Given the description of an element on the screen output the (x, y) to click on. 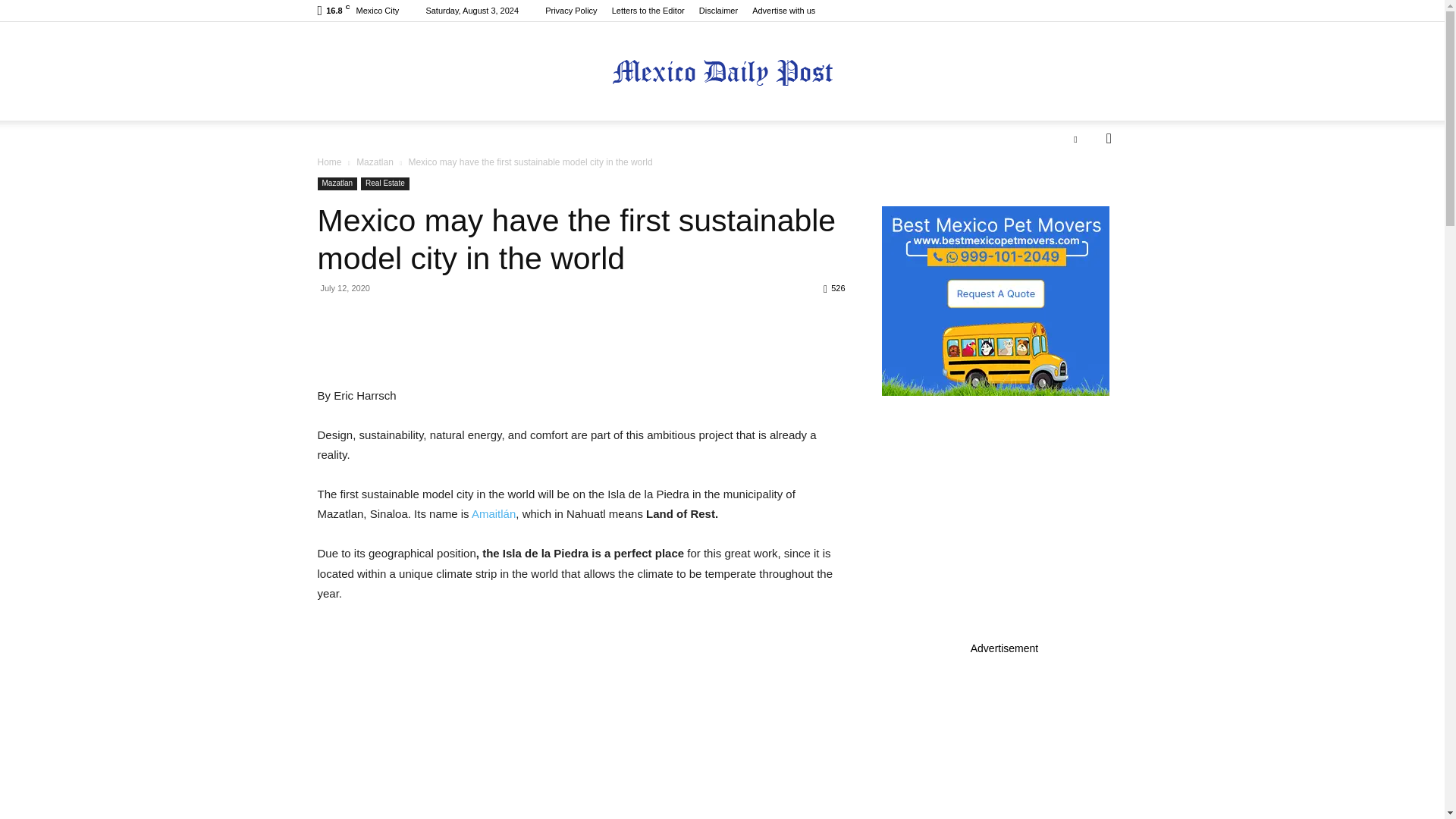
Mazatlan (336, 183)
Home (328, 162)
Real Estate (385, 183)
Letters to the Editor (647, 10)
Privacy Policy (570, 10)
Disclaimer (718, 10)
Mazatlan (374, 162)
Advertise with us (783, 10)
Search (1085, 199)
Mexico Daily Post (721, 72)
View all posts in Mazatlan (374, 162)
